Given the description of an element on the screen output the (x, y) to click on. 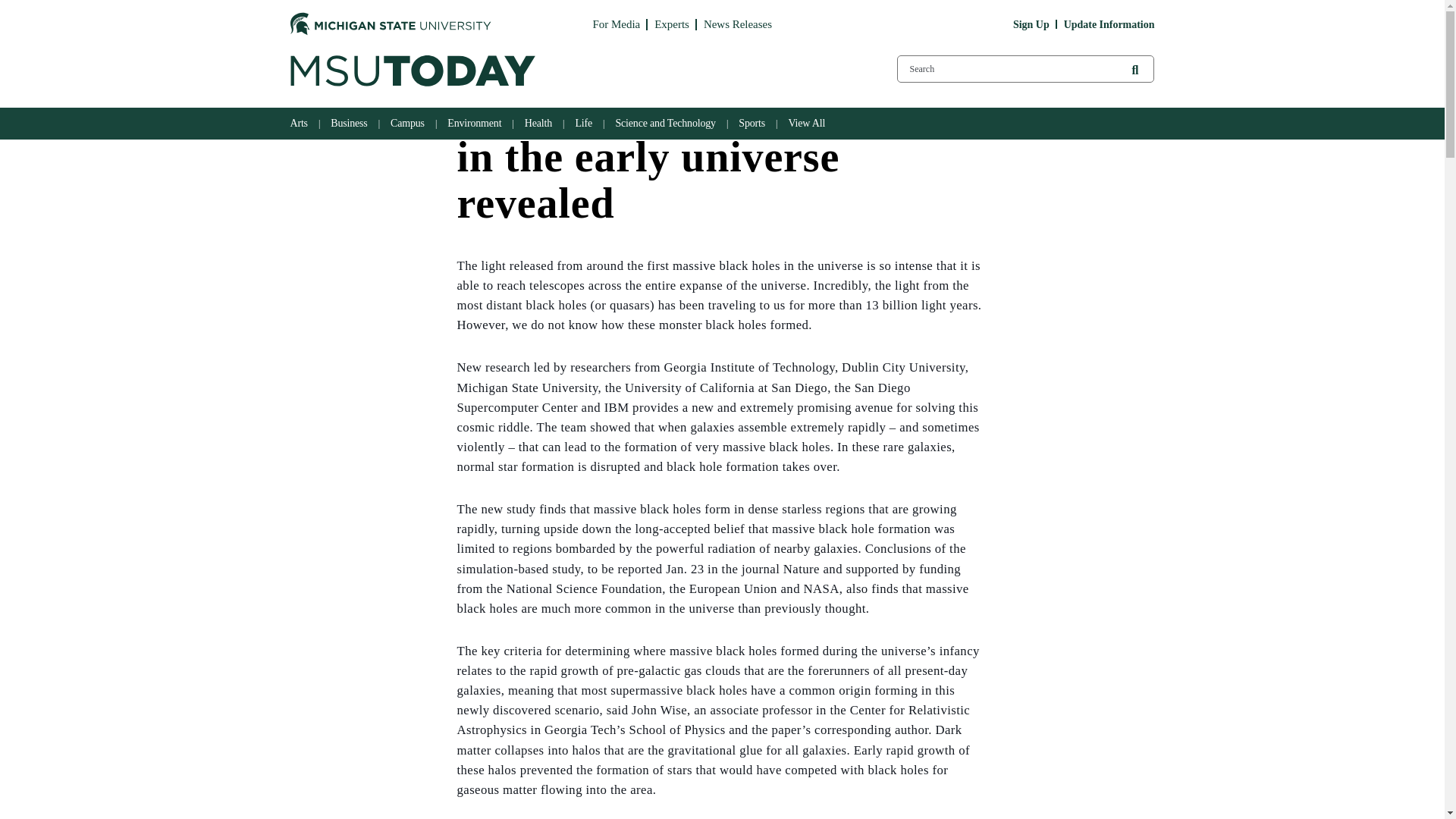
Sign Up (1031, 24)
Health (540, 123)
News Releases (737, 24)
Michigan State University (389, 23)
Life (584, 123)
Science and Technology (666, 123)
Experts (670, 24)
Sports (754, 123)
View All (808, 123)
Campus (409, 123)
